Given the description of an element on the screen output the (x, y) to click on. 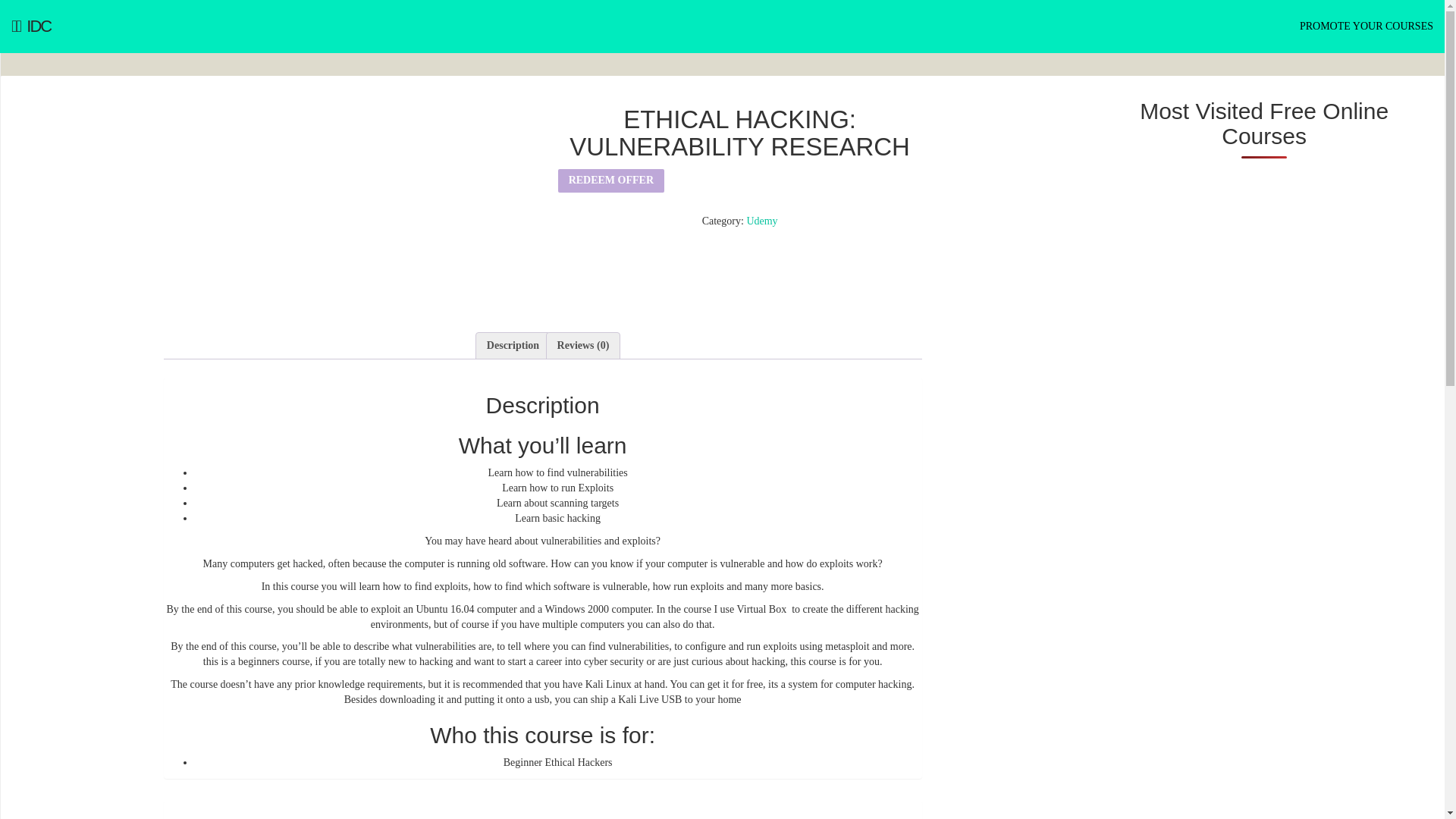
Description (512, 345)
Udemy (761, 220)
  IDC (31, 26)
REDEEM OFFER (610, 180)
